Given the description of an element on the screen output the (x, y) to click on. 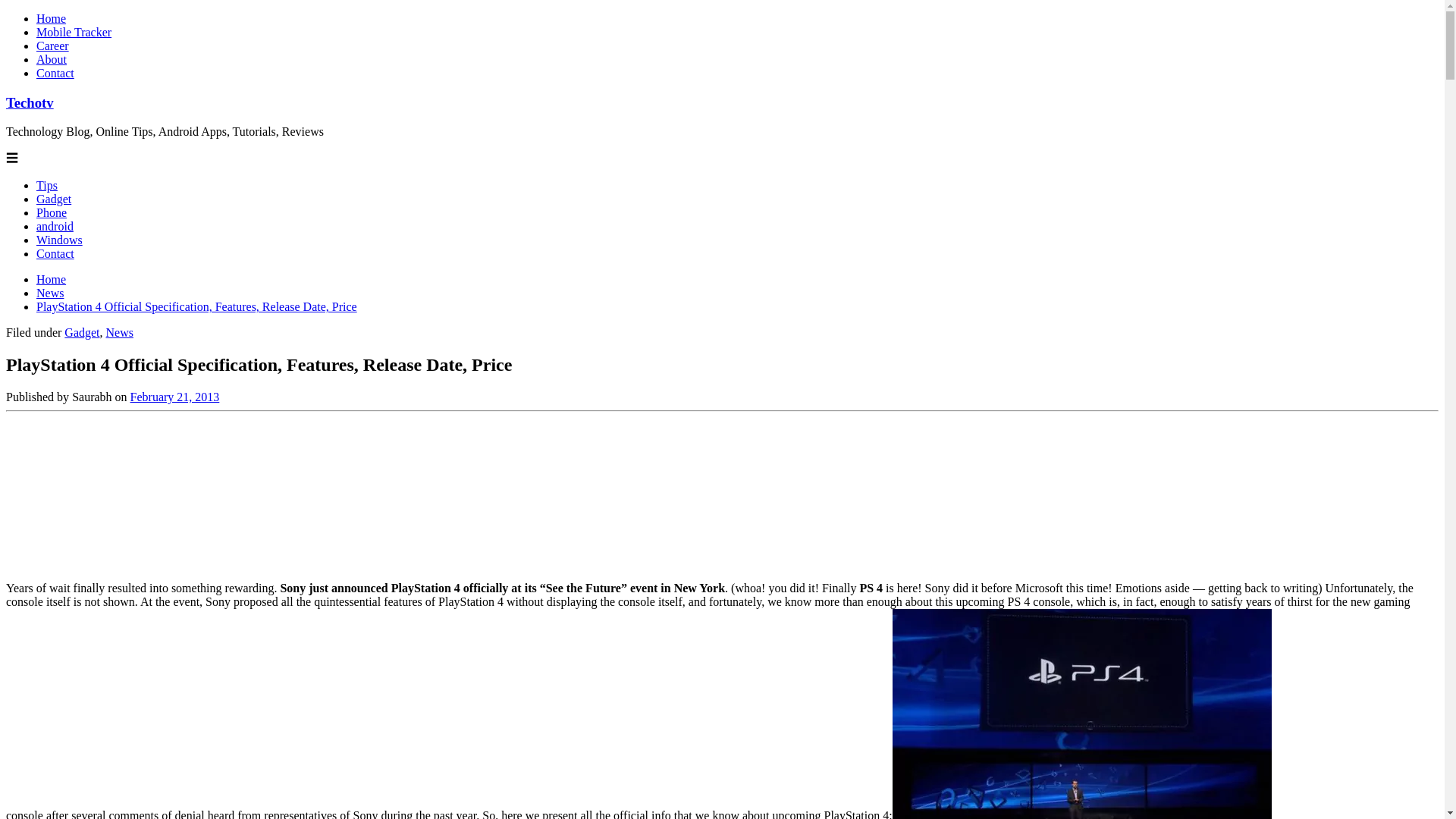
6:50 pm (175, 396)
About (51, 59)
Techotv (29, 102)
Windows (59, 239)
android (55, 226)
February 21, 2013 (175, 396)
Home (50, 278)
Home (50, 18)
News (50, 292)
Gadget (81, 332)
Phone (51, 212)
News (119, 332)
Mobile Tracker (74, 31)
Contact (55, 253)
